Given the description of an element on the screen output the (x, y) to click on. 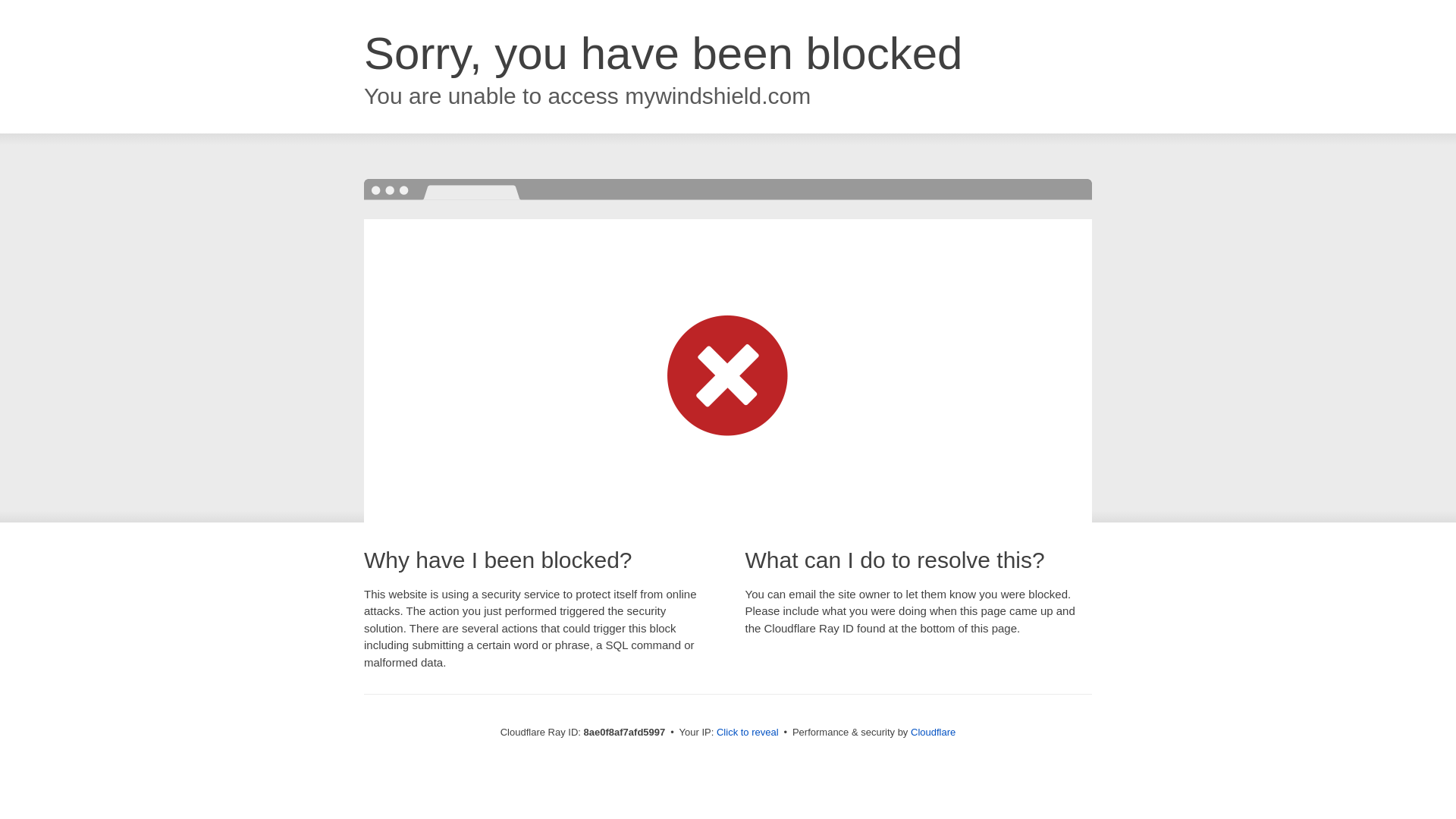
Click to reveal (747, 732)
Cloudflare (933, 731)
